Given the description of an element on the screen output the (x, y) to click on. 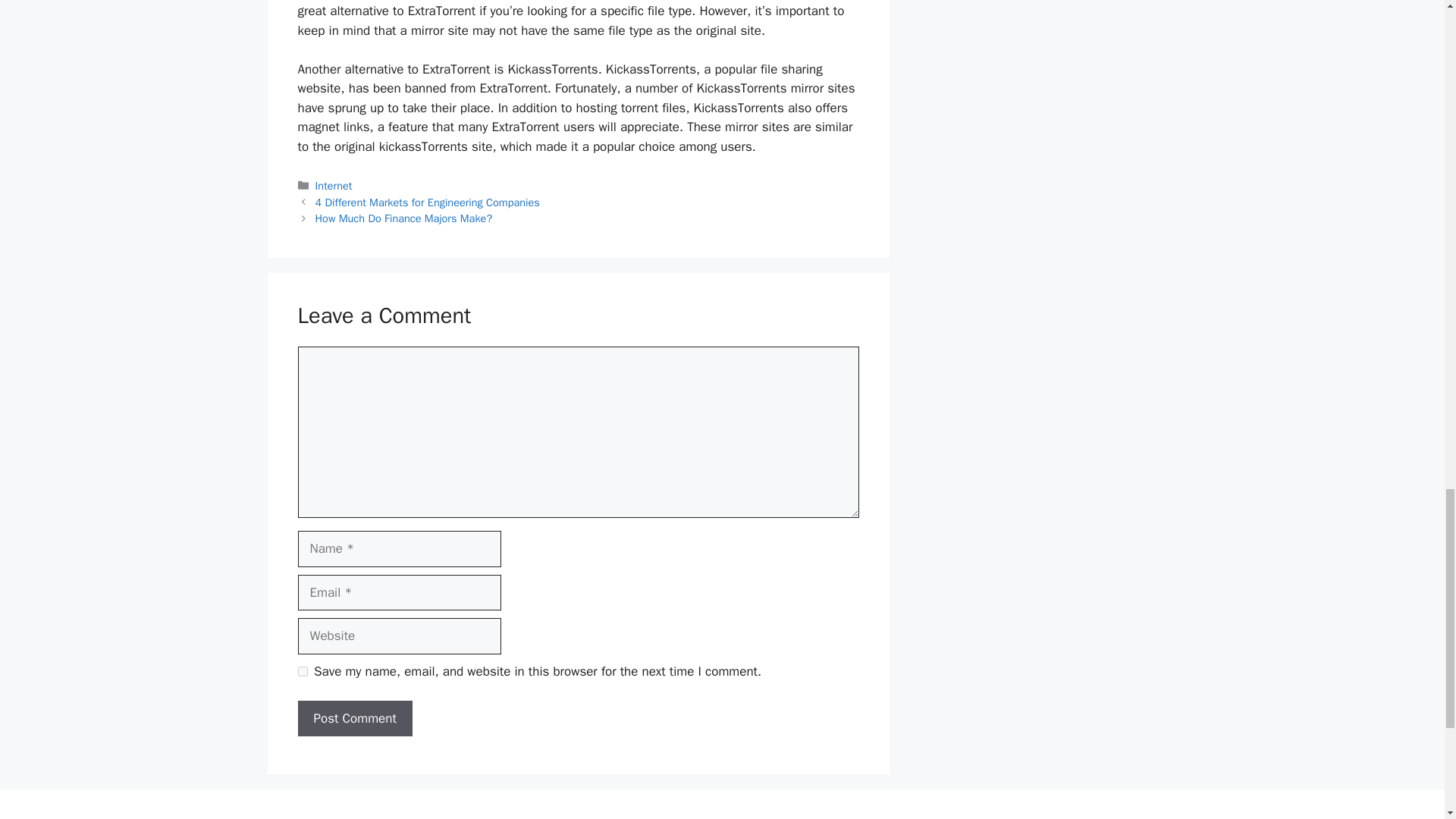
Post Comment (354, 719)
yes (302, 671)
4 Different Markets for Engineering Companies (427, 202)
How Much Do Finance Majors Make? (404, 218)
Post Comment (354, 719)
Internet (333, 185)
